Given the description of an element on the screen output the (x, y) to click on. 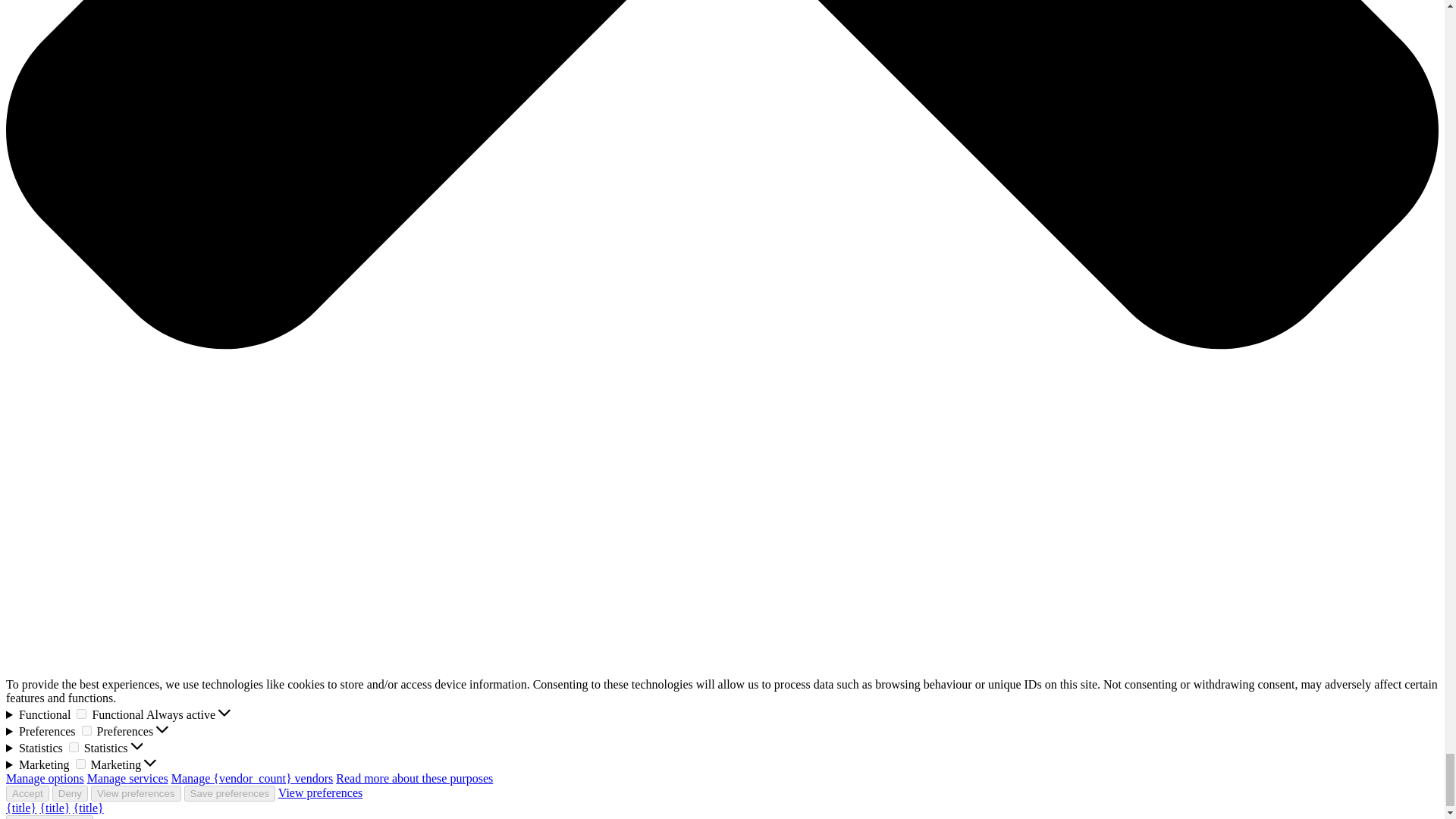
1 (73, 747)
1 (86, 730)
1 (81, 714)
1 (80, 764)
